Given the description of an element on the screen output the (x, y) to click on. 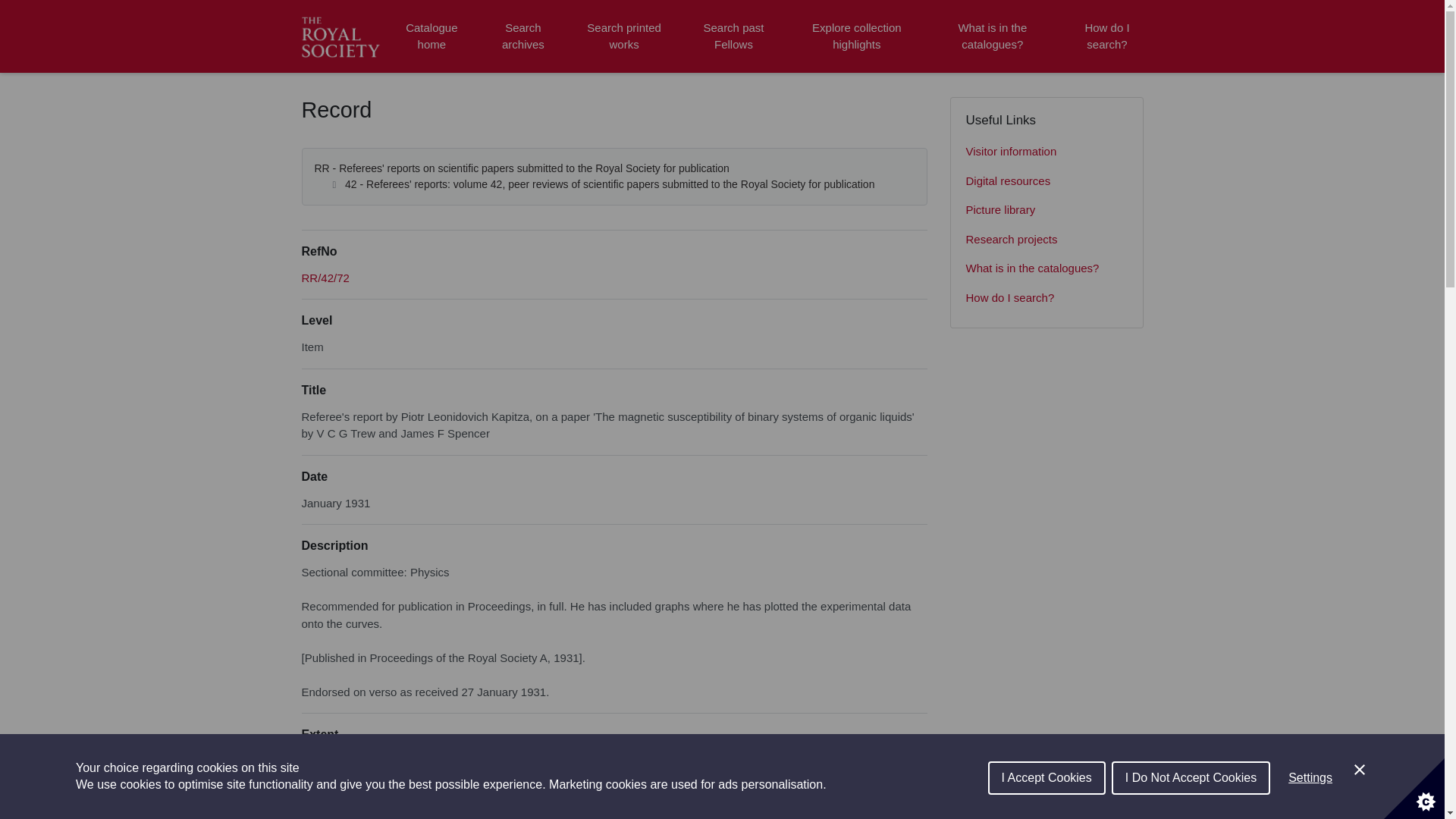
Search past Fellows (732, 36)
Settings (1309, 806)
Research projects (1046, 239)
Homepage (343, 36)
Explore collection highlights (856, 36)
Visitor information (1046, 152)
Catalogue home (431, 36)
Picture library (1046, 210)
Digital resources (1046, 181)
How do I search? (1046, 297)
What is in the catalogues? (991, 36)
How do I search? (1106, 36)
What is in the catalogues? (1046, 268)
